Given the description of an element on the screen output the (x, y) to click on. 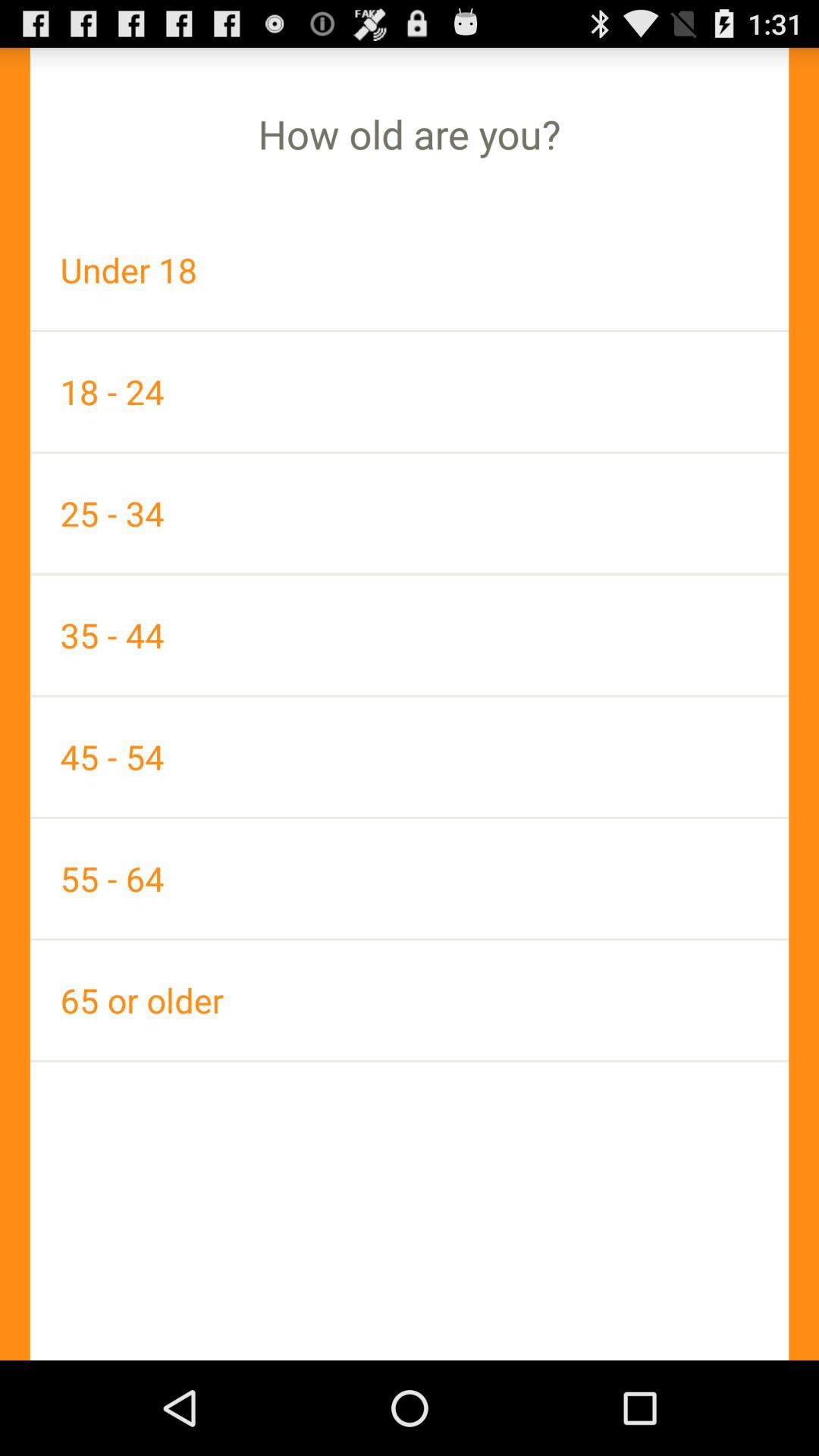
click the icon below the 25 - 34 (409, 635)
